Given the description of an element on the screen output the (x, y) to click on. 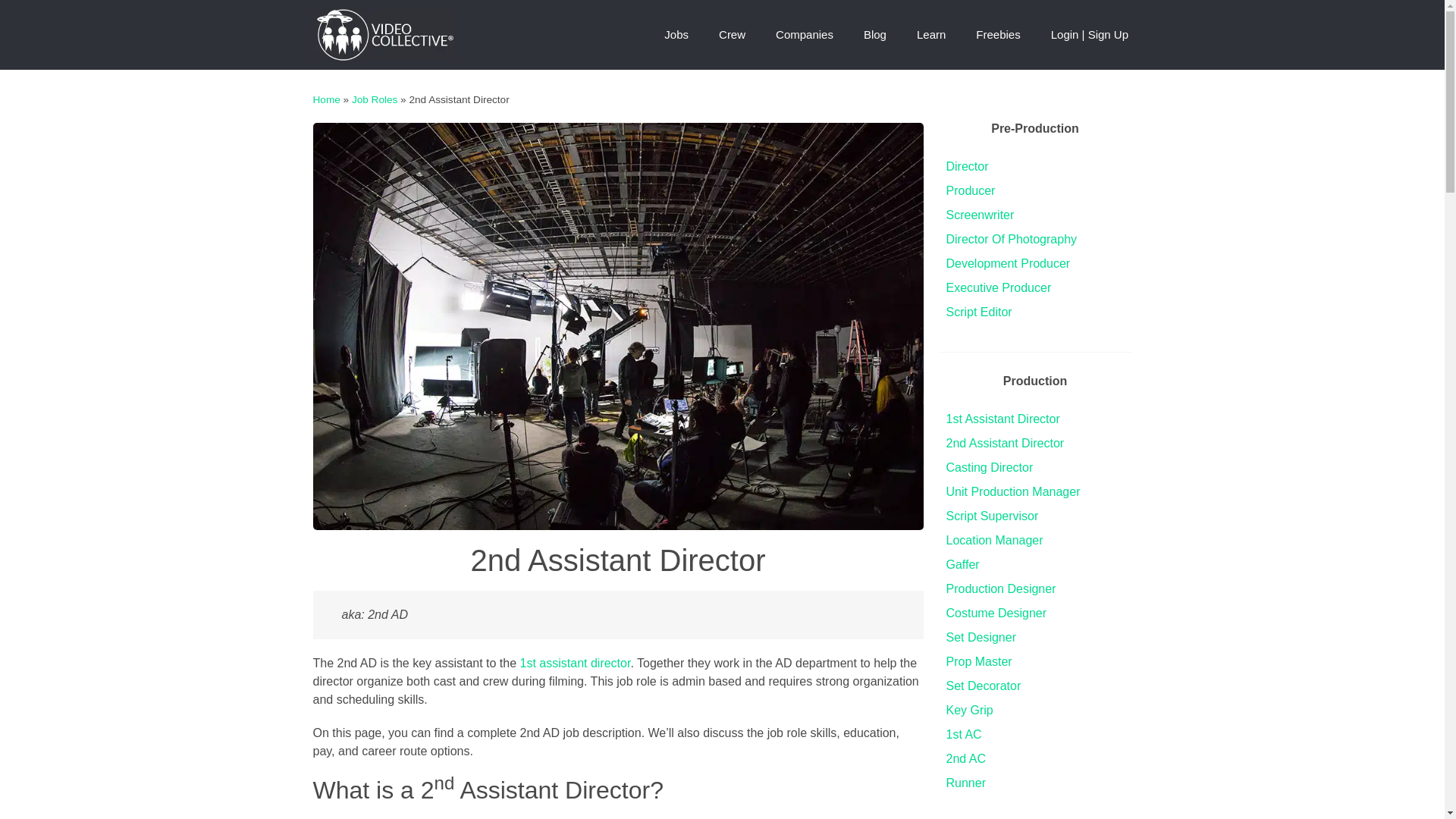
Companies (804, 34)
Blog (874, 34)
Companies (804, 34)
Jobs (676, 34)
Crew (731, 34)
Freebies (997, 34)
Freebies (997, 34)
Learn (930, 34)
Learn (930, 34)
Blog (874, 34)
Jobs (676, 34)
Crew (731, 34)
